Given the description of an element on the screen output the (x, y) to click on. 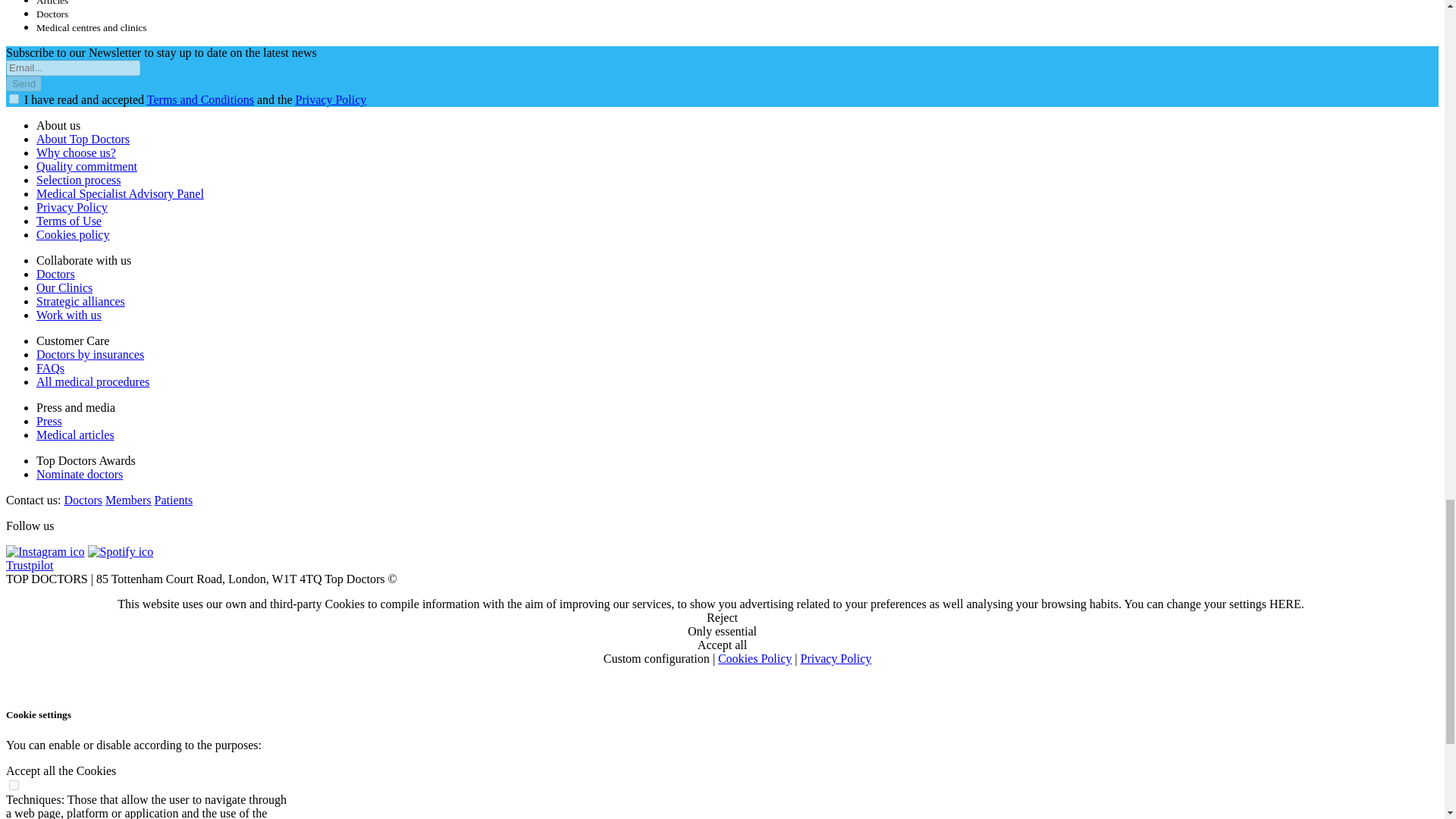
Top Doctors su Instagram (44, 551)
Top Doctors su Spotify (120, 551)
on (13, 785)
1 (13, 99)
